Given the description of an element on the screen output the (x, y) to click on. 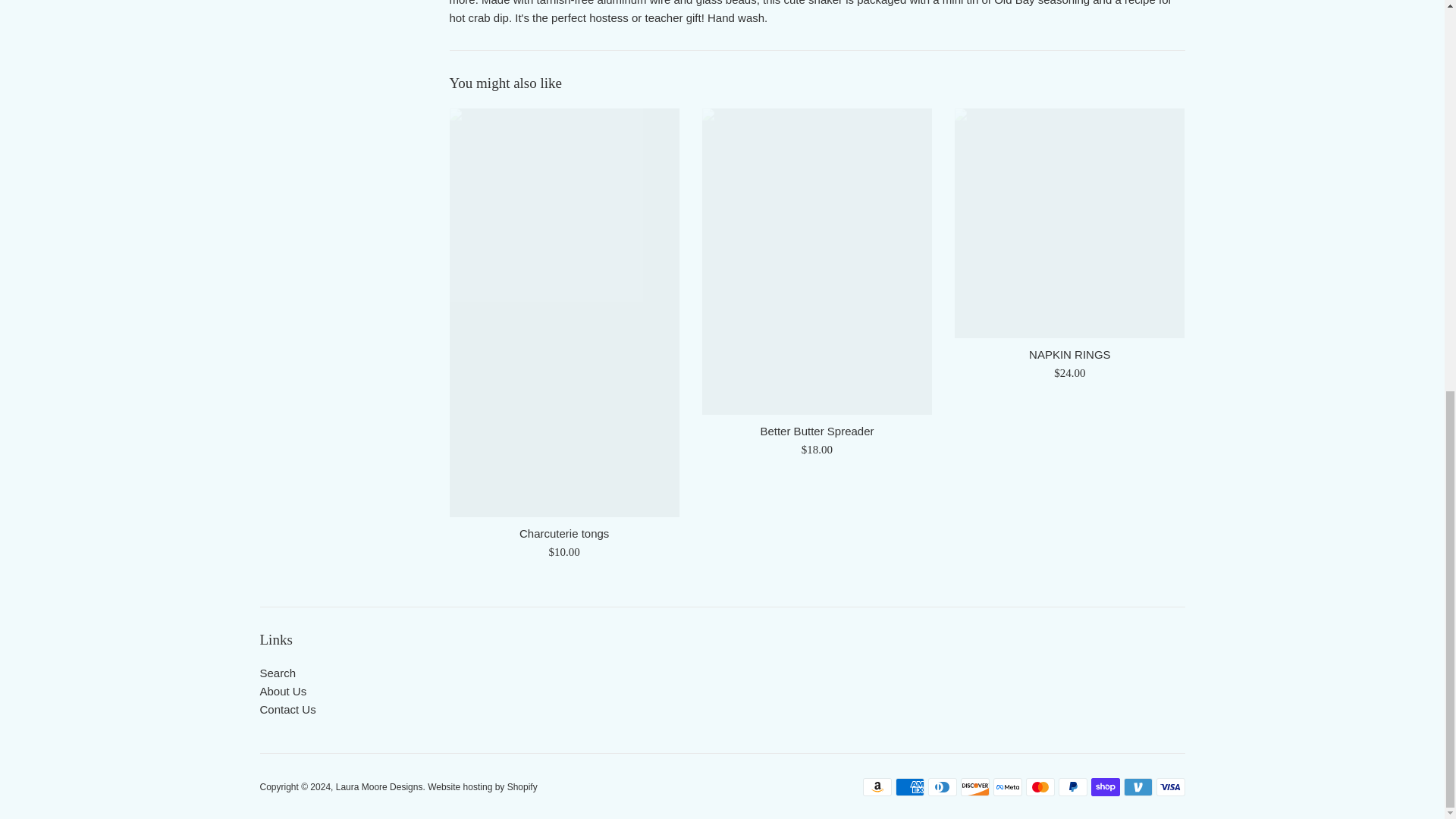
Search (277, 672)
About Us (282, 690)
PayPal (1072, 786)
Venmo (1138, 786)
Discover (973, 786)
Shop Pay (1104, 786)
Visa (1170, 786)
American Express (909, 786)
NAPKIN RINGS (1069, 354)
NAPKIN RINGS (1070, 223)
